Given the description of an element on the screen output the (x, y) to click on. 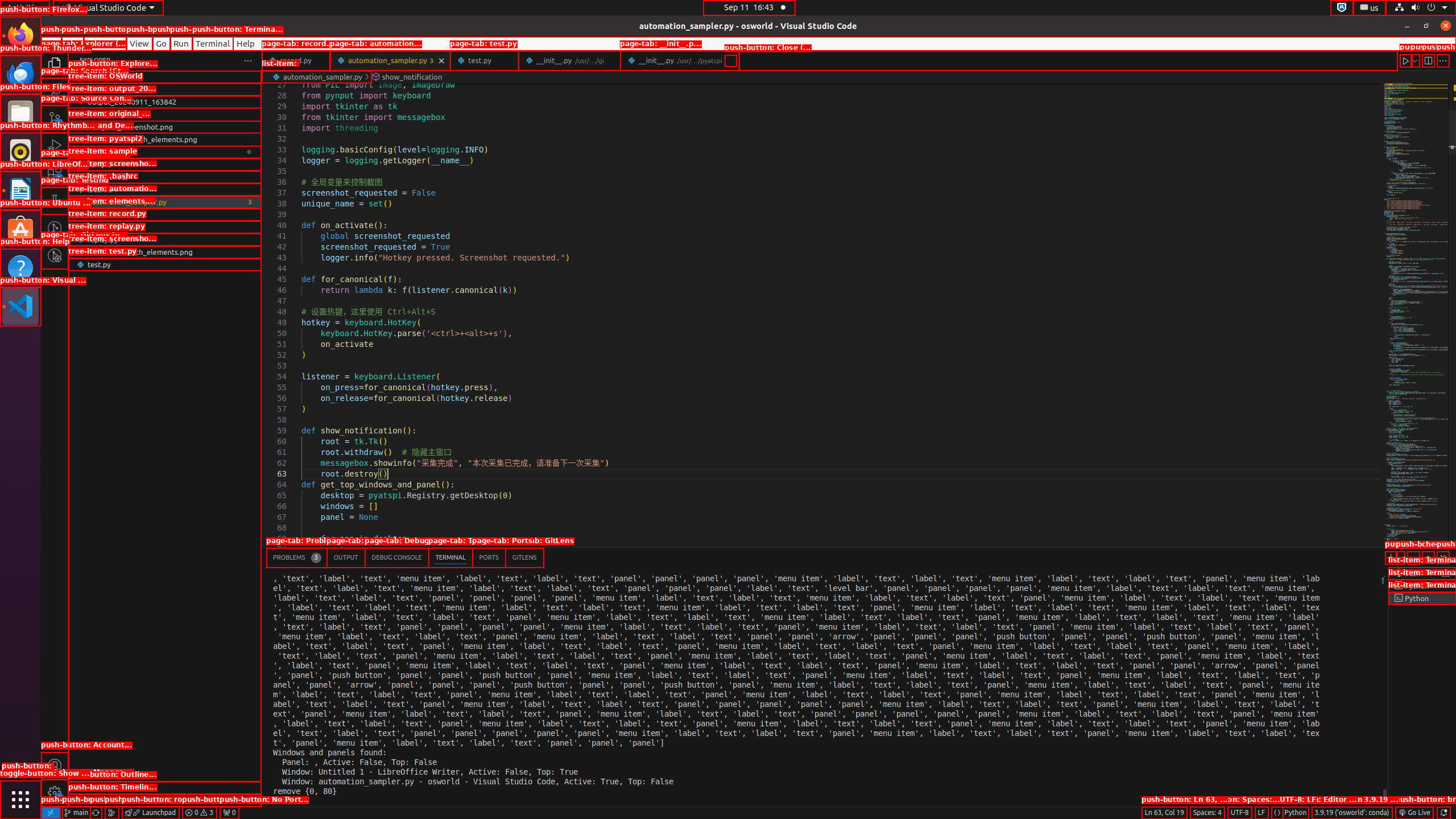
Debug Console (Ctrl+Shift+Y) Element type: page-tab (396, 557)
Maximize Panel Size Element type: check-box (1427, 557)
Accounts Element type: push-button (54, 765)
Show the GitLens Commit Graph Element type: push-button (111, 812)
Ports Element type: page-tab (488, 557)
